Given the description of an element on the screen output the (x, y) to click on. 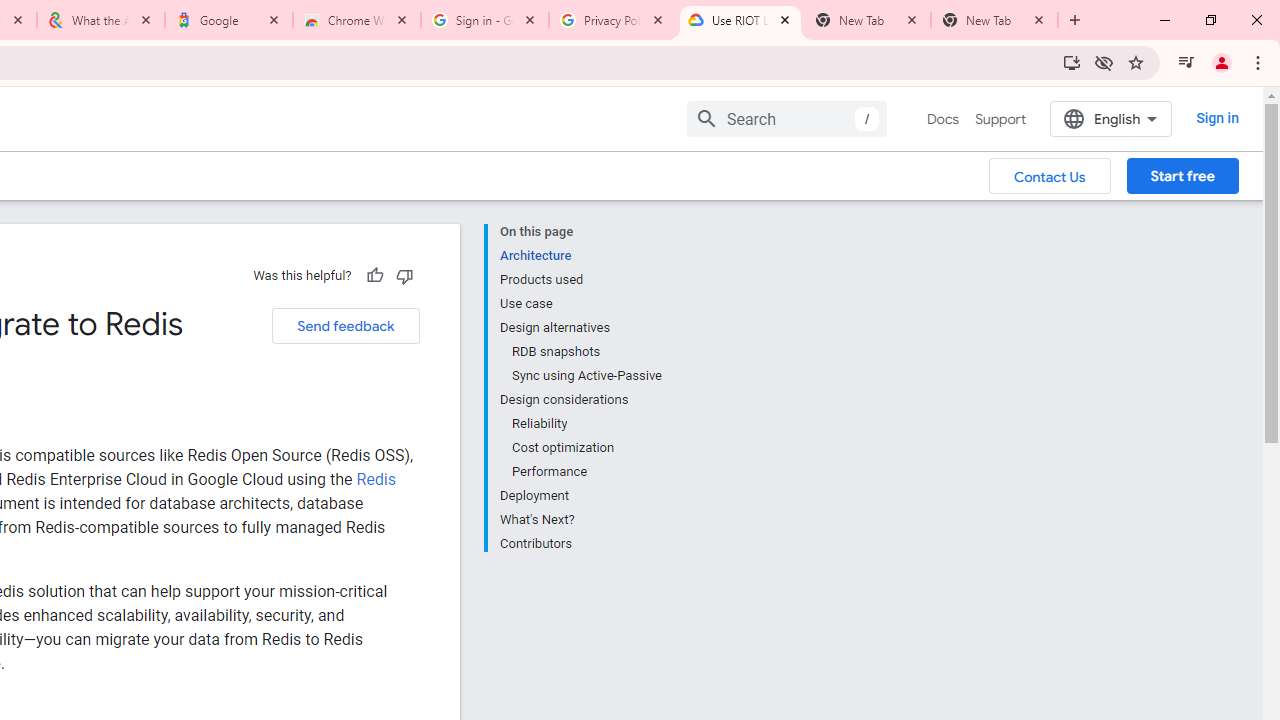
Cost optimization (585, 448)
Reliability (585, 423)
English (1110, 118)
Sync using Active-Passive (585, 376)
Support (1000, 119)
Contact Us (1050, 175)
Chrome Web Store - Color themes by Chrome (357, 20)
Use case (580, 304)
Not helpful (404, 275)
Helpful (374, 275)
